Given the description of an element on the screen output the (x, y) to click on. 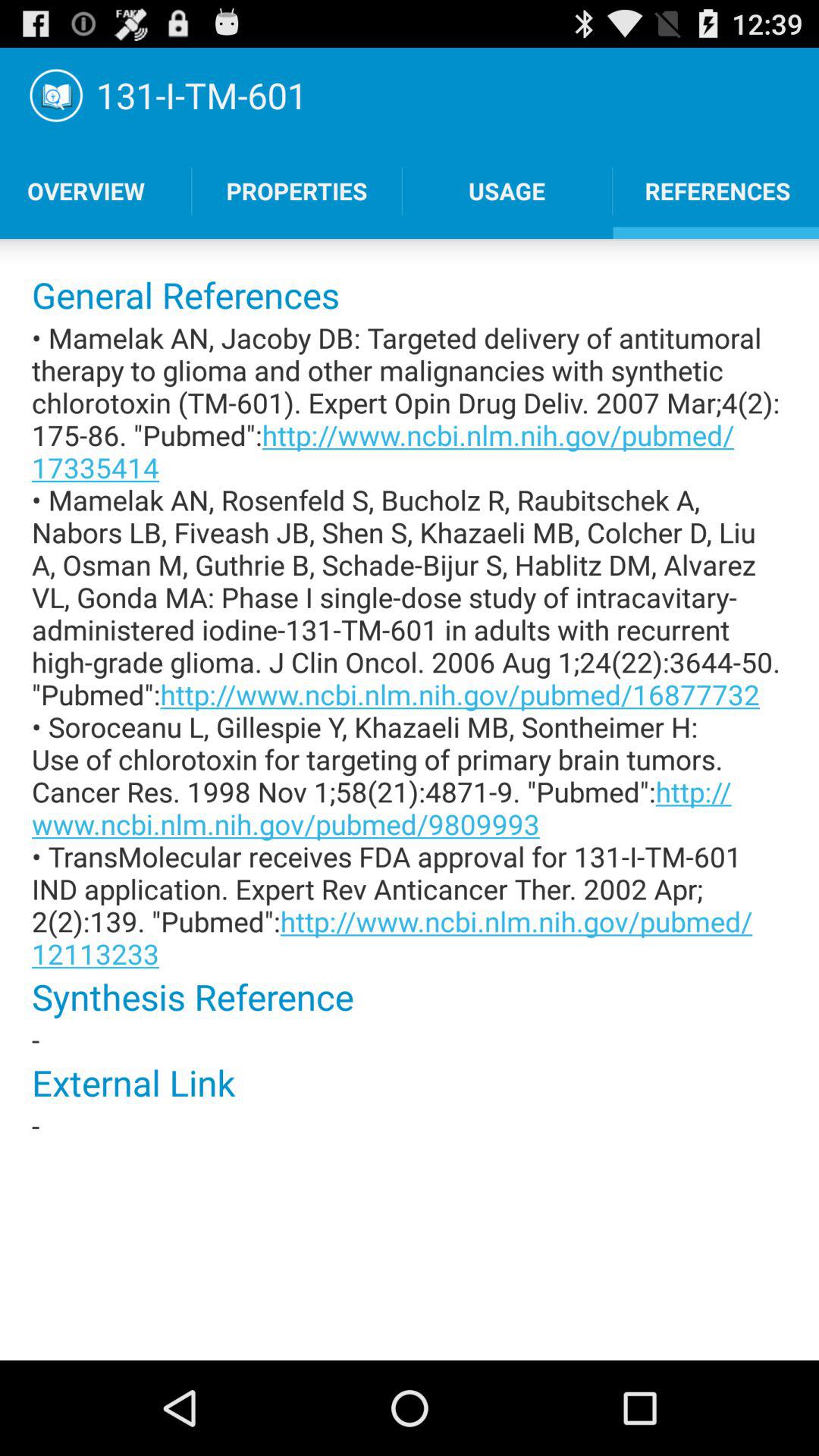
swipe until - (409, 1125)
